Given the description of an element on the screen output the (x, y) to click on. 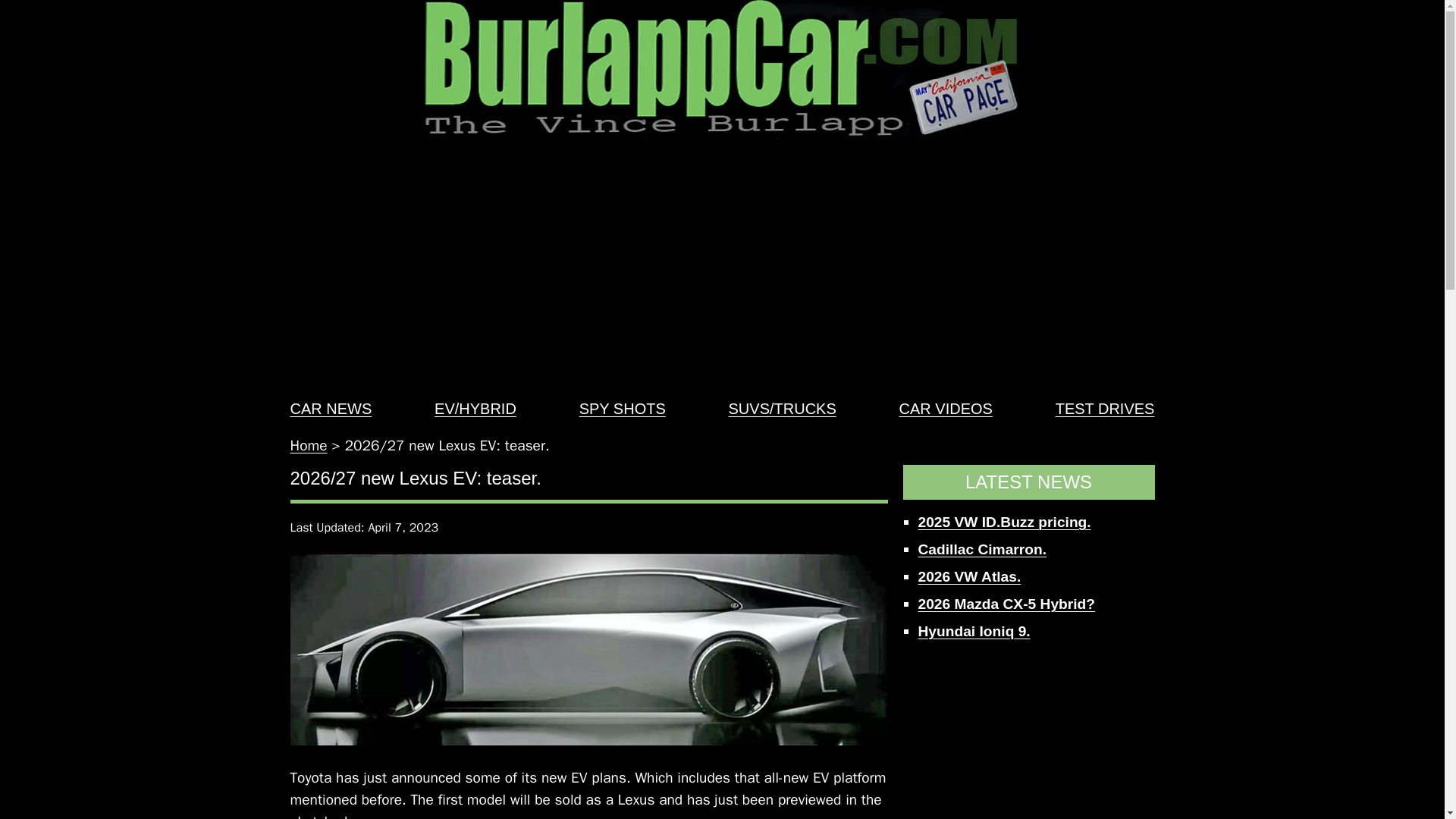
2026 Mazda CX-5 Hybrid? (1005, 603)
Cadillac Cimarron. (981, 549)
2026 Mazda CX-5 Hybrid? (1005, 603)
Hyundai Ioniq 9. (973, 631)
Home (307, 445)
Advertisement (1028, 739)
2026 VW Atlas. (968, 576)
SPY SHOTS (622, 408)
Hyundai Ioniq 9. (973, 631)
2025 VW ID.Buzz pricing. (1003, 521)
